Given the description of an element on the screen output the (x, y) to click on. 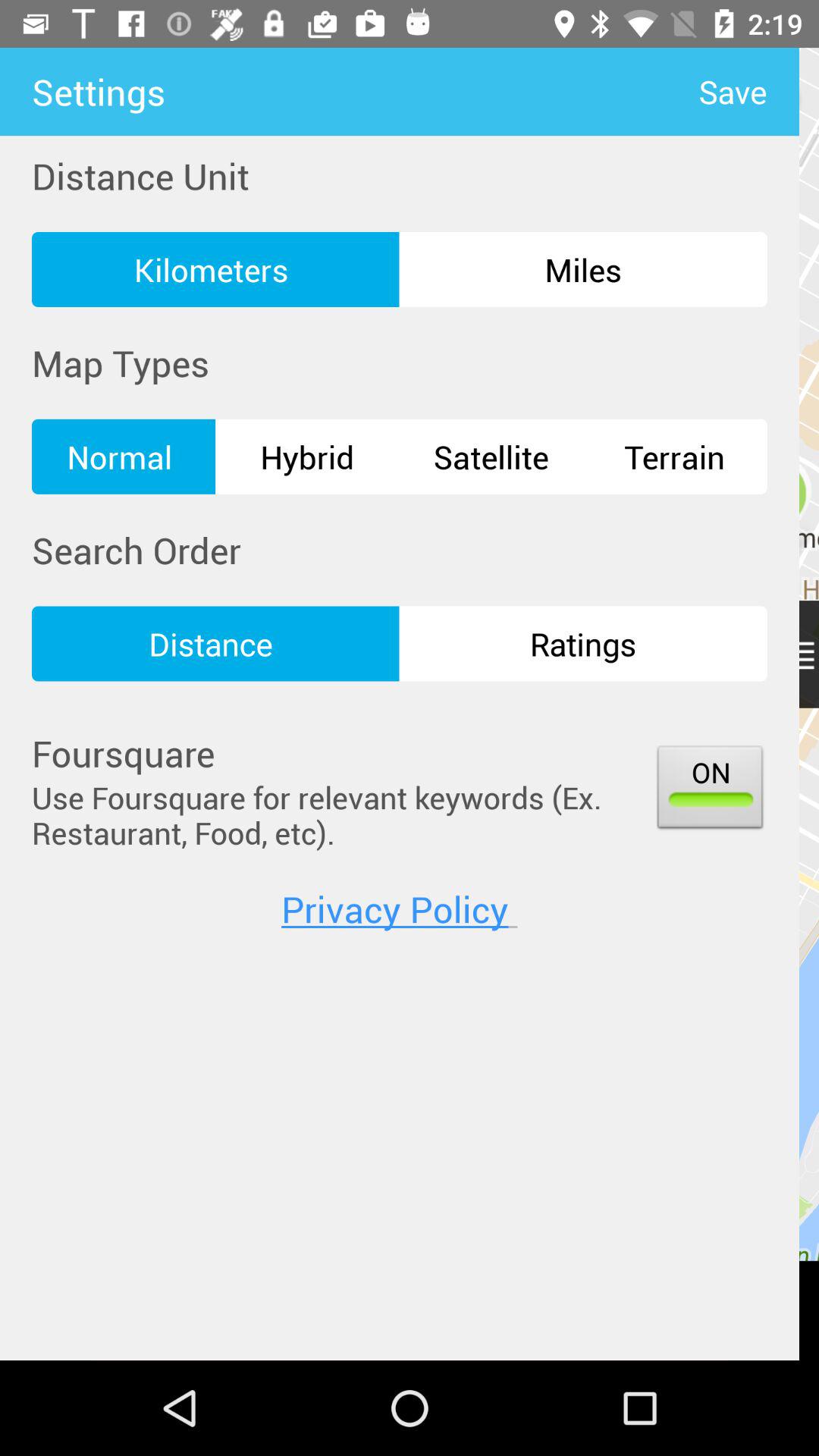
open the item next to the use foursquare for item (710, 790)
